Given the description of an element on the screen output the (x, y) to click on. 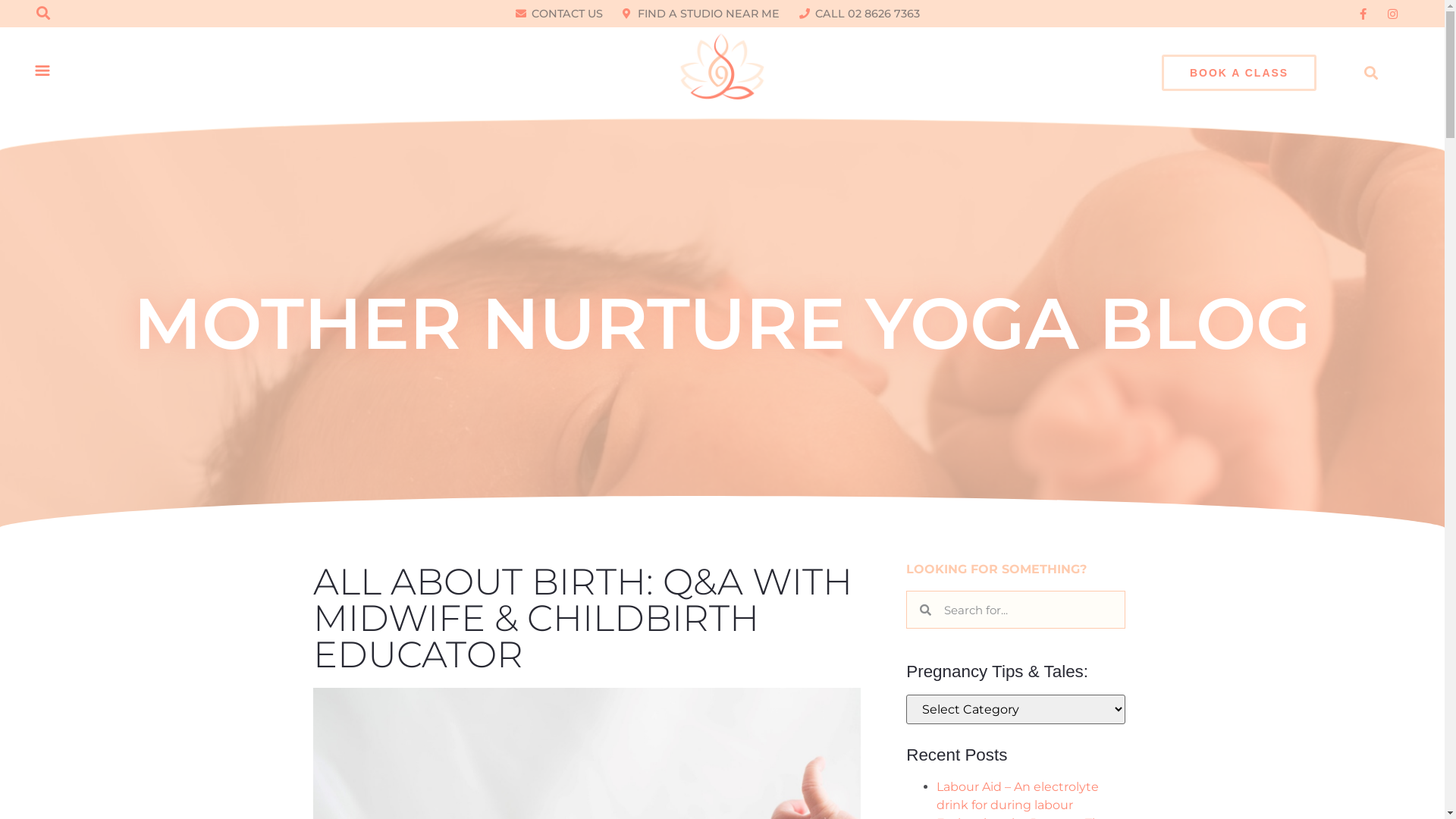
LOOKING FOR SOMETHING? Element type: text (996, 568)
CALL 02 8626 7363 Element type: text (859, 13)
FIND A STUDIO NEAR ME Element type: text (701, 13)
CONTACT US Element type: text (558, 13)
BOOK A CLASS Element type: text (1238, 72)
MOTHER NURTURE YOGA BLOG Element type: text (722, 323)
